Given the description of an element on the screen output the (x, y) to click on. 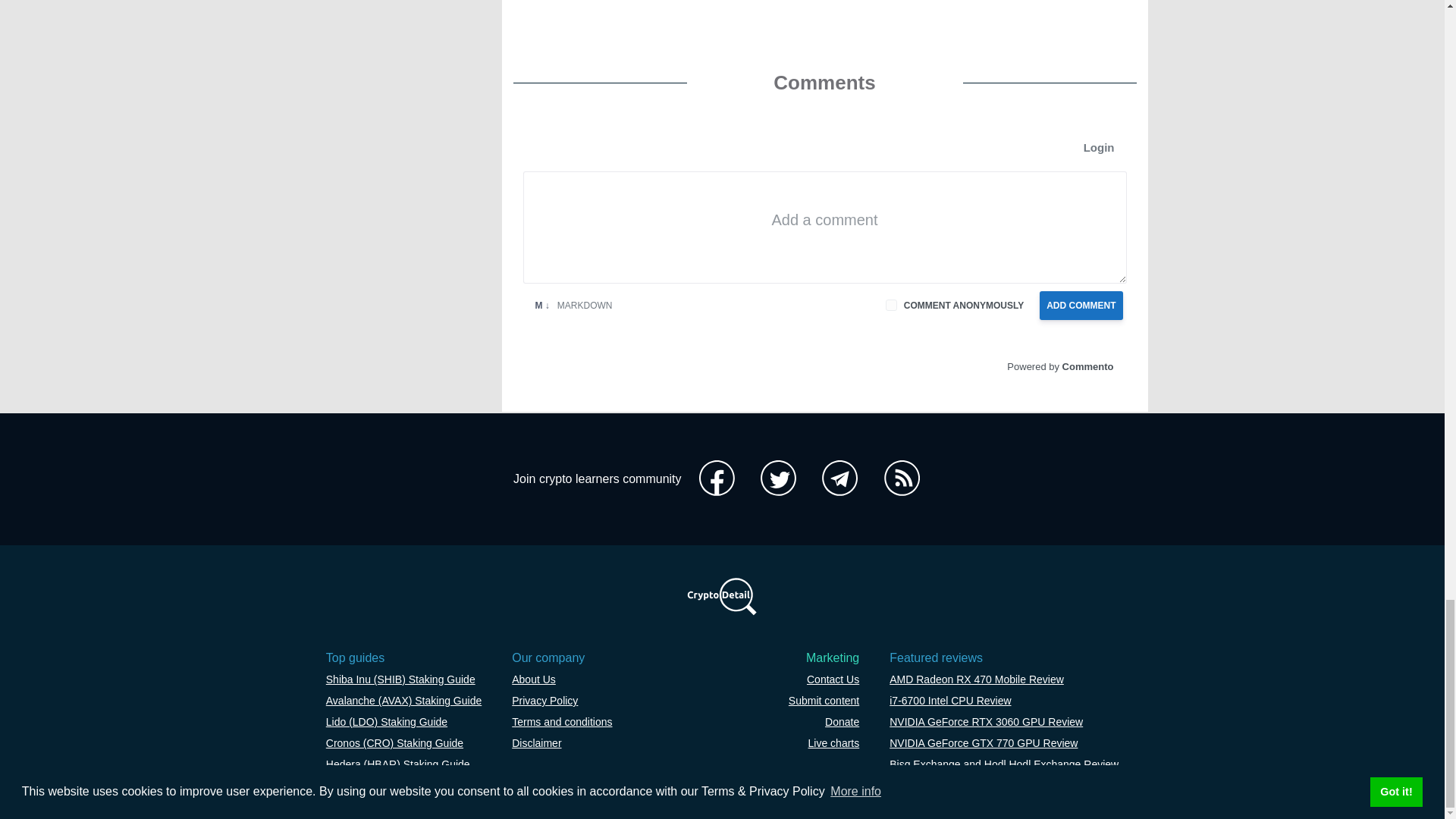
Telegram (839, 478)
RSS (901, 478)
Twitter (778, 478)
Facebook (716, 478)
